Given the description of an element on the screen output the (x, y) to click on. 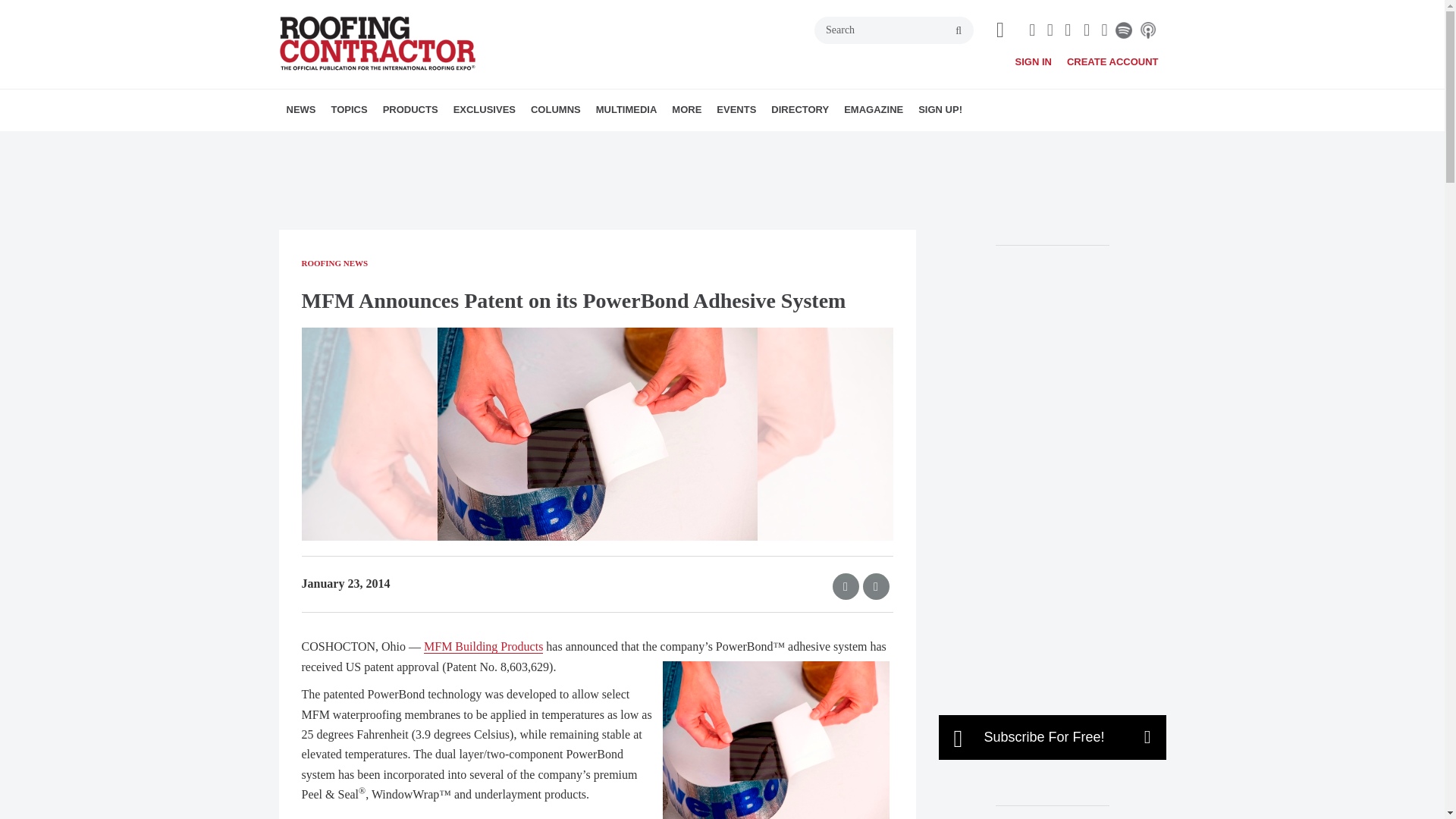
IRE SHOW (552, 143)
PROJECT PROFILES (445, 143)
SUSTAINABLE ROOFING (458, 143)
BEST OF SUCCESS (539, 143)
NEW PRODUCTS (469, 143)
SIGN IN (1032, 61)
LOW SLOPE (436, 143)
Search (893, 30)
COOL ROOFING (417, 143)
ROOFING SUPPLY PRO (449, 143)
